Given the description of an element on the screen output the (x, y) to click on. 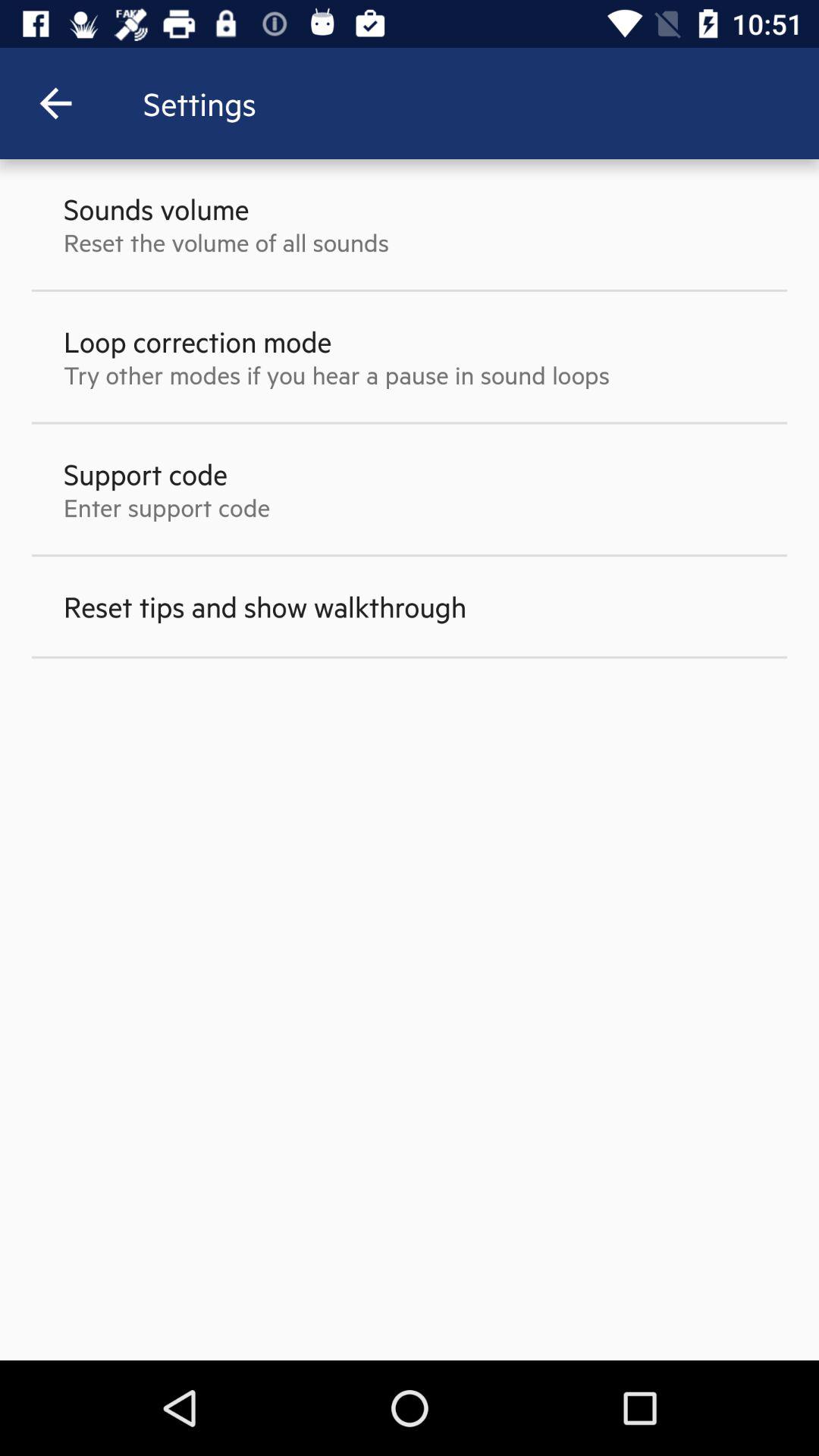
turn on the app next to settings item (55, 103)
